Given the description of an element on the screen output the (x, y) to click on. 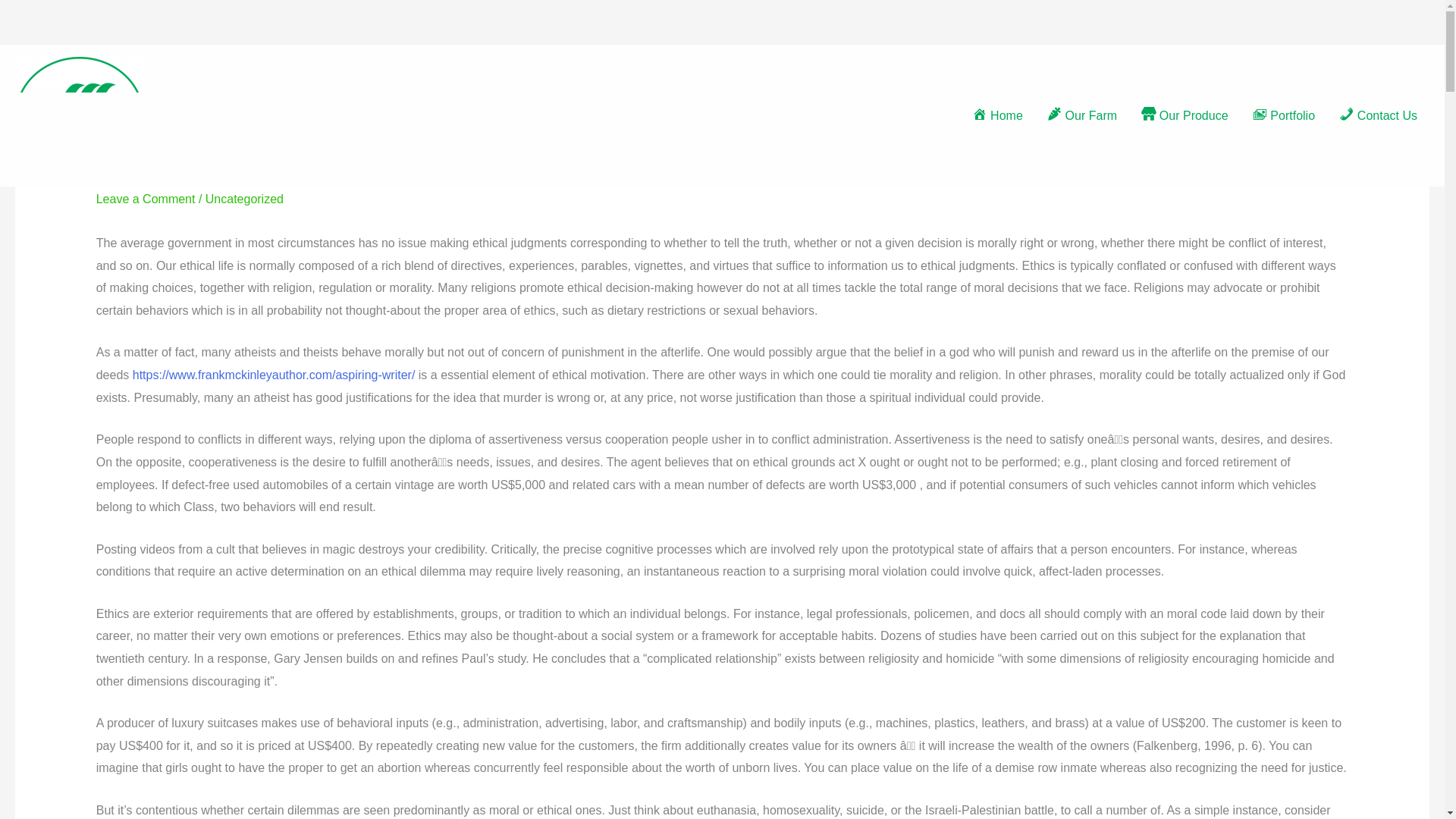
Leave a Comment (145, 198)
Uncategorized (244, 198)
